Given the description of an element on the screen output the (x, y) to click on. 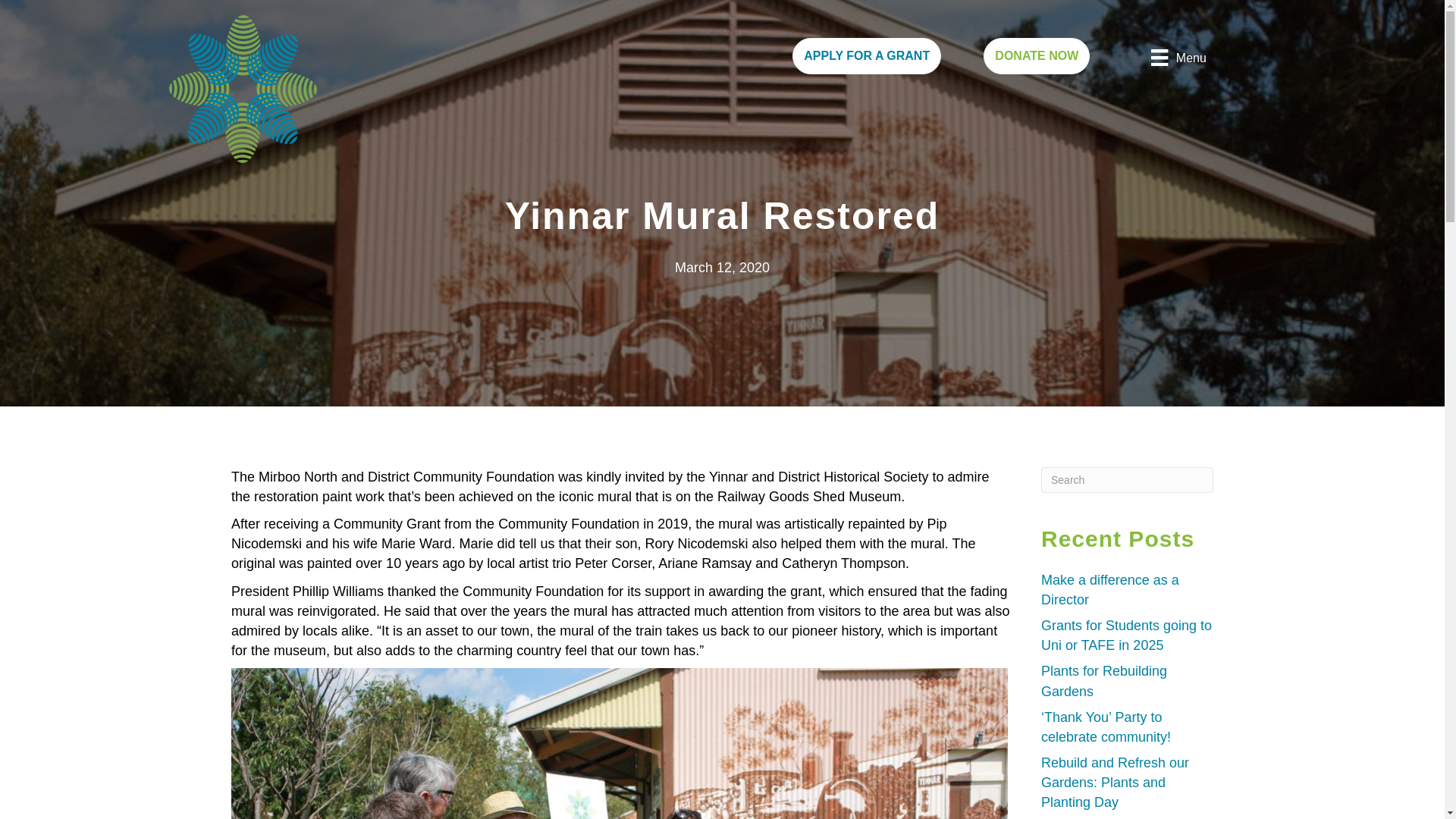
Menu (1178, 56)
DONATE NOW (1036, 55)
Type and press Enter to search. (1126, 479)
APPLY FOR A GRANT (866, 55)
Mirboo North Foundation Logo Image Only (241, 88)
